Given the description of an element on the screen output the (x, y) to click on. 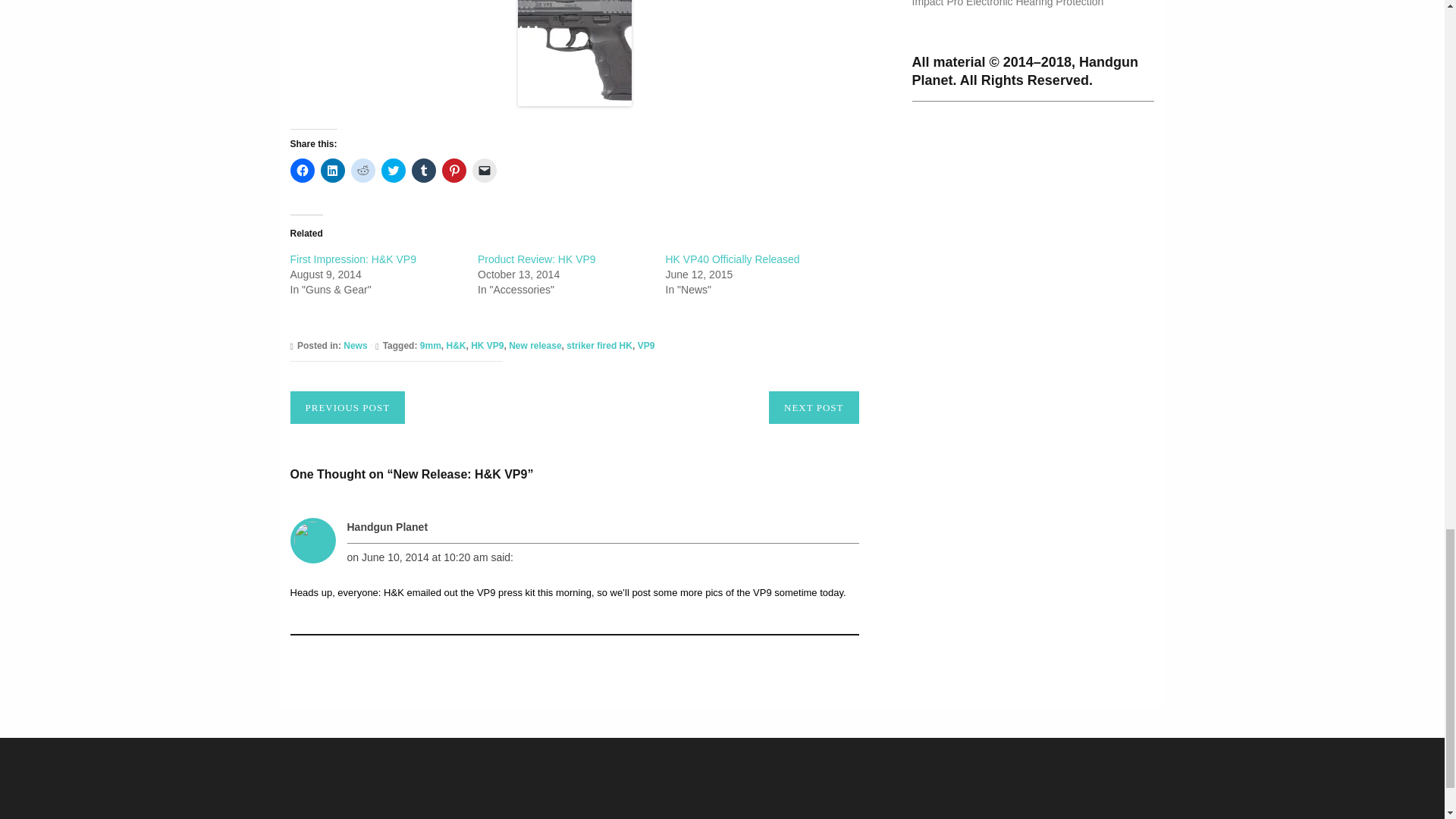
HK VP40 Officially Released (732, 259)
striker fired HK (598, 345)
PREVIOUS POST (346, 407)
June 10, 2014 at 10:20 am (424, 557)
Click to share on LinkedIn (331, 170)
Product Review: HK VP9 (536, 259)
HK VP9 (486, 345)
News (354, 345)
Click to share on Facebook (301, 170)
9mm (430, 345)
